Given the description of an element on the screen output the (x, y) to click on. 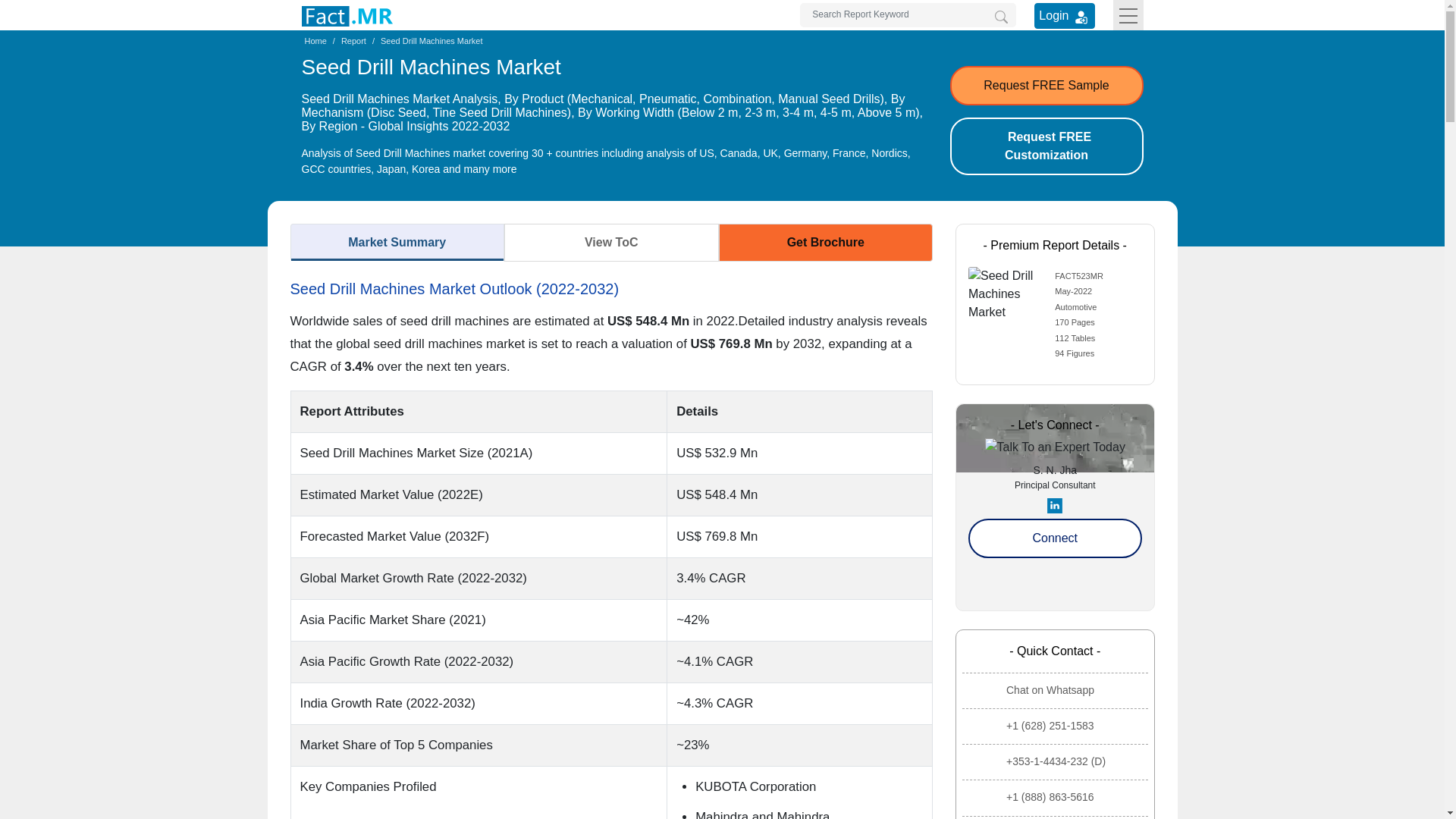
Report (353, 40)
Connect (1054, 537)
Login (1063, 15)
Search (1001, 16)
View ToC (611, 242)
Login (1080, 17)
Request FREE Sample (1045, 85)
Login (1063, 15)
Get Brochure (826, 242)
Home (315, 40)
